Given the description of an element on the screen output the (x, y) to click on. 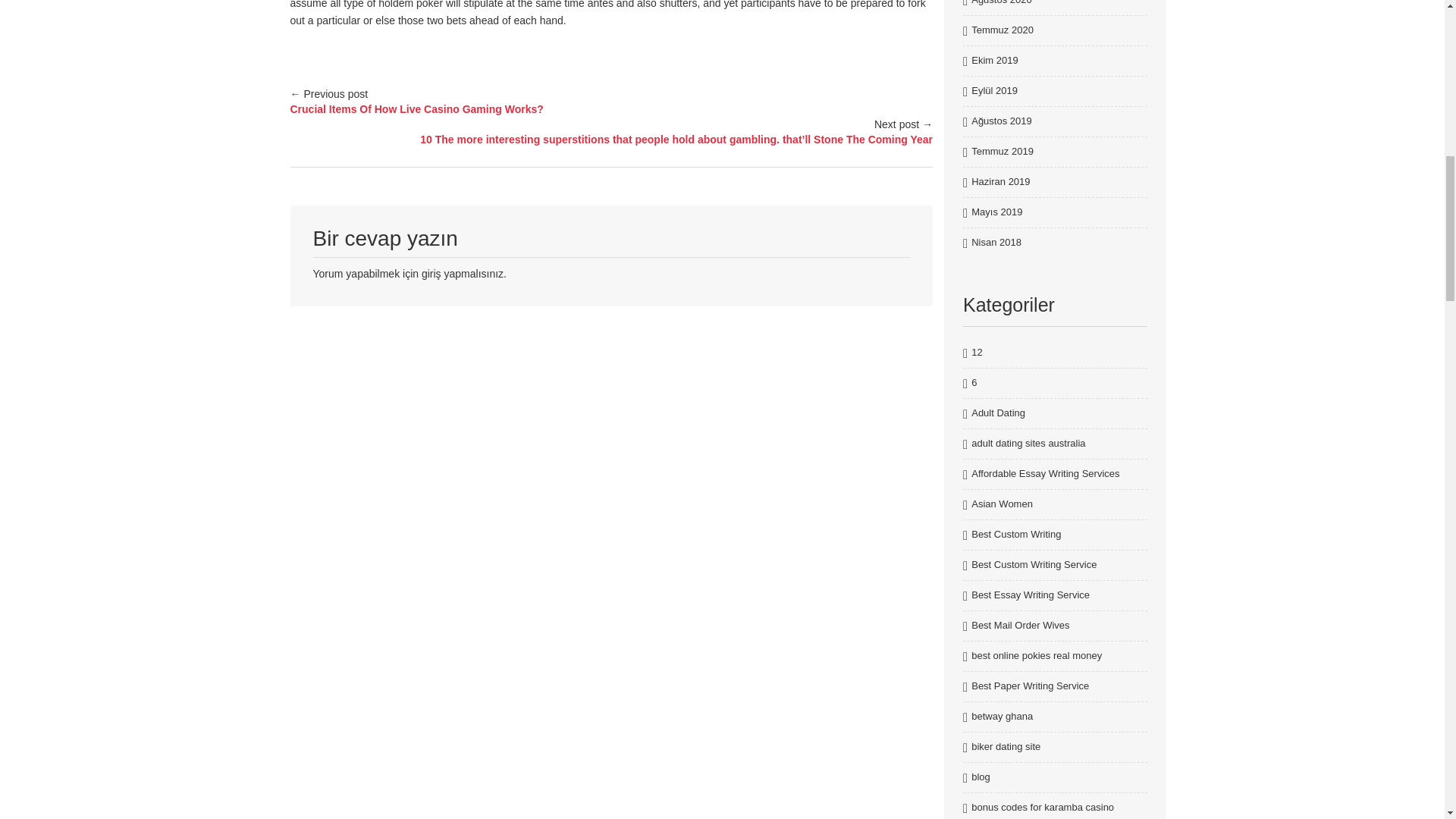
Nisan 2018 (996, 242)
Haziran 2019 (1000, 182)
Temmuz 2019 (1002, 151)
Temmuz 2020 (1002, 30)
Ekim 2019 (994, 60)
